Given the description of an element on the screen output the (x, y) to click on. 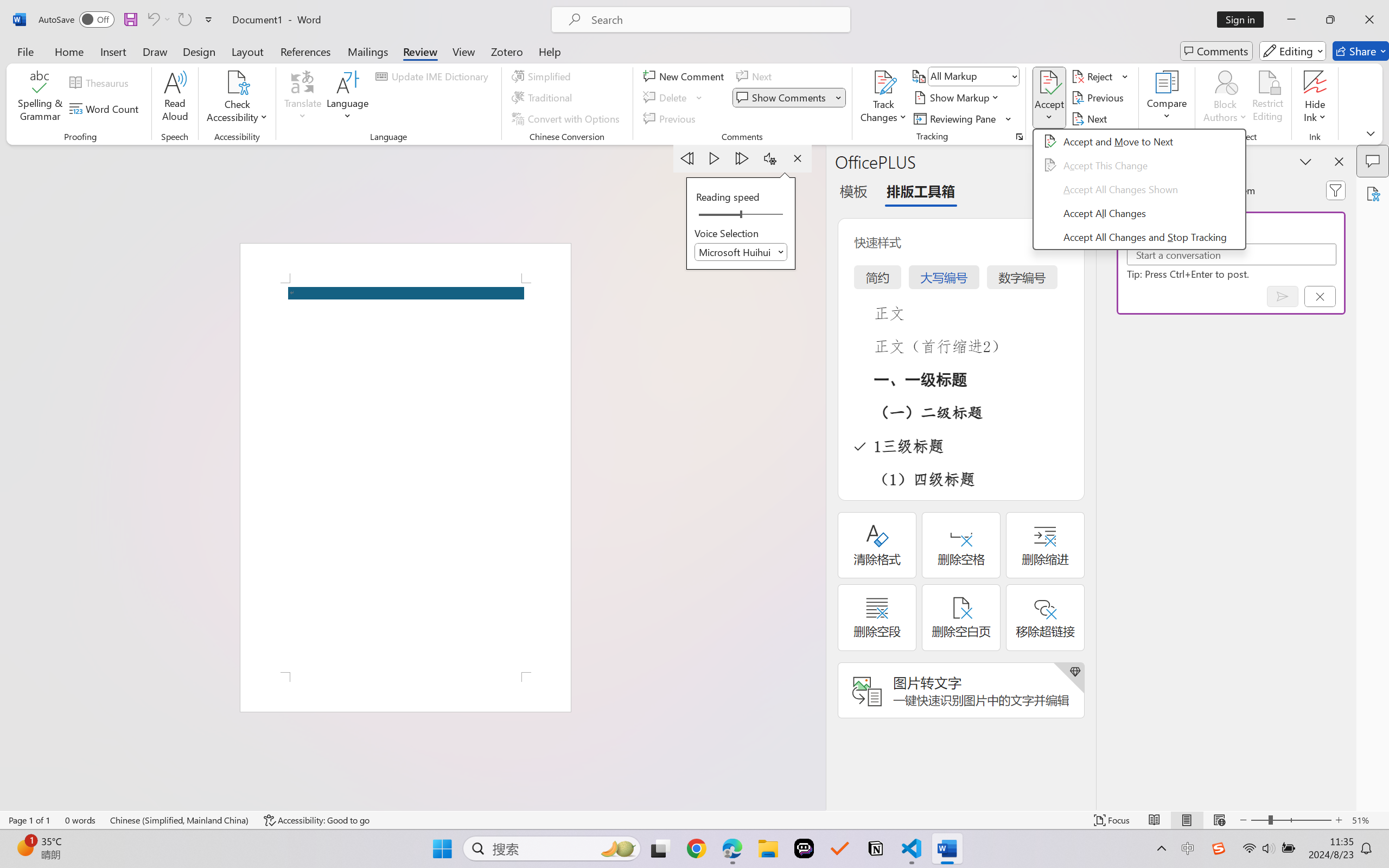
Simplified (542, 75)
Hide Ink (1315, 81)
Sign in (1244, 19)
Settings (770, 158)
